Given the description of an element on the screen output the (x, y) to click on. 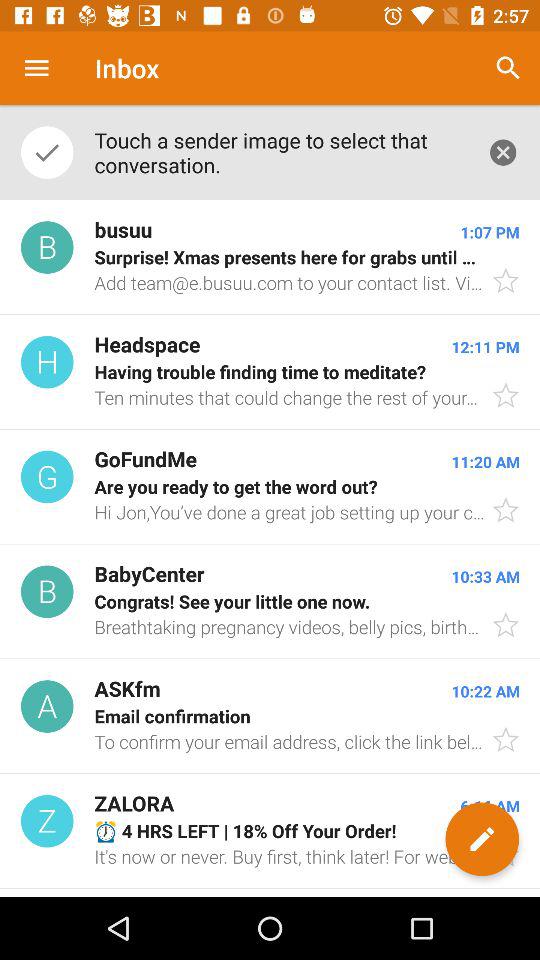
turn off icon next to touch a sender icon (508, 67)
